Given the description of an element on the screen output the (x, y) to click on. 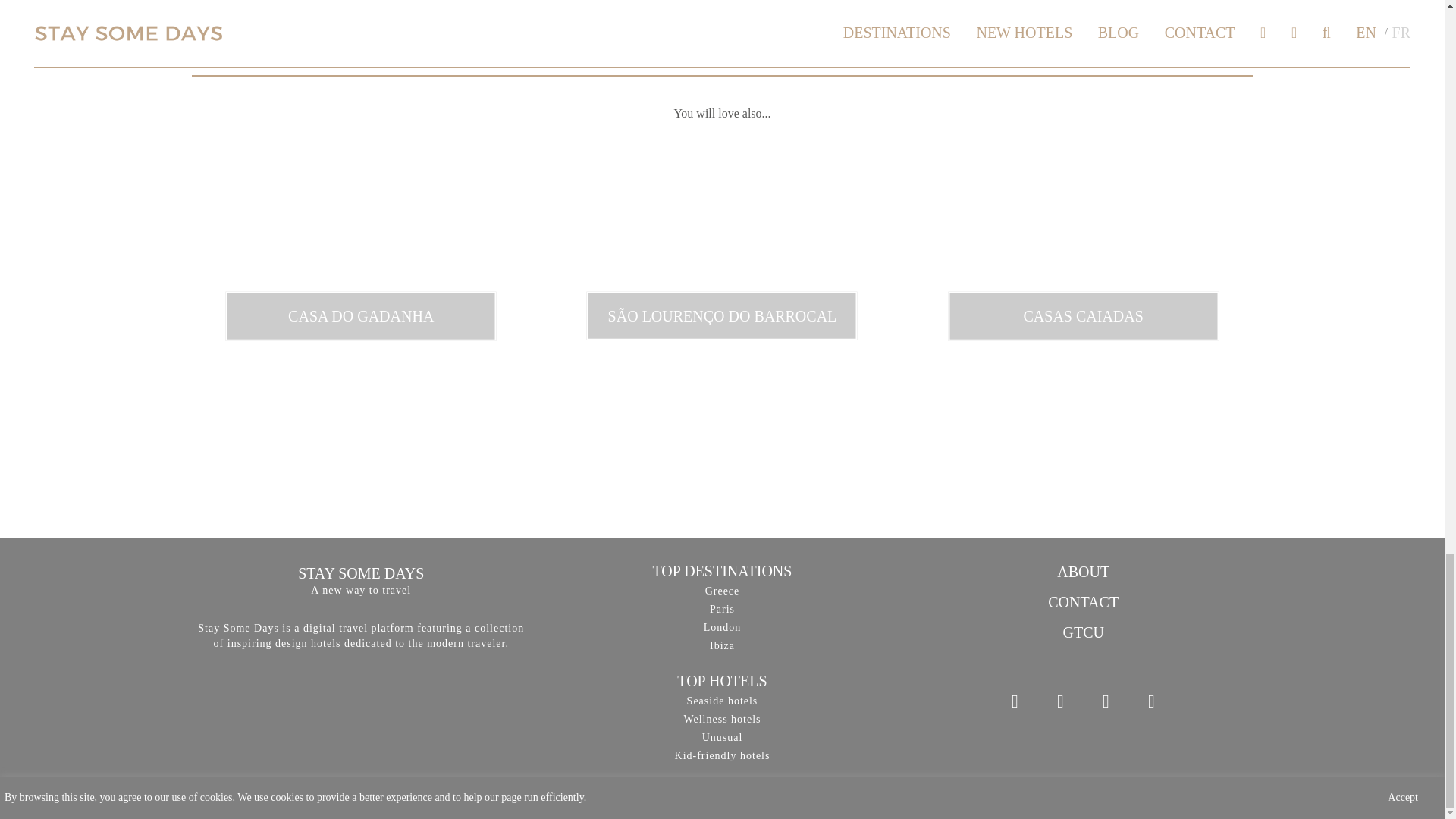
TOP DESTINATIONS (722, 570)
Greece (721, 591)
CASAS CAIADAS (1083, 316)
CASA DO GADANHA (360, 316)
Casas Caiadas (1083, 316)
Casa do Gadanha (360, 316)
